Given the description of an element on the screen output the (x, y) to click on. 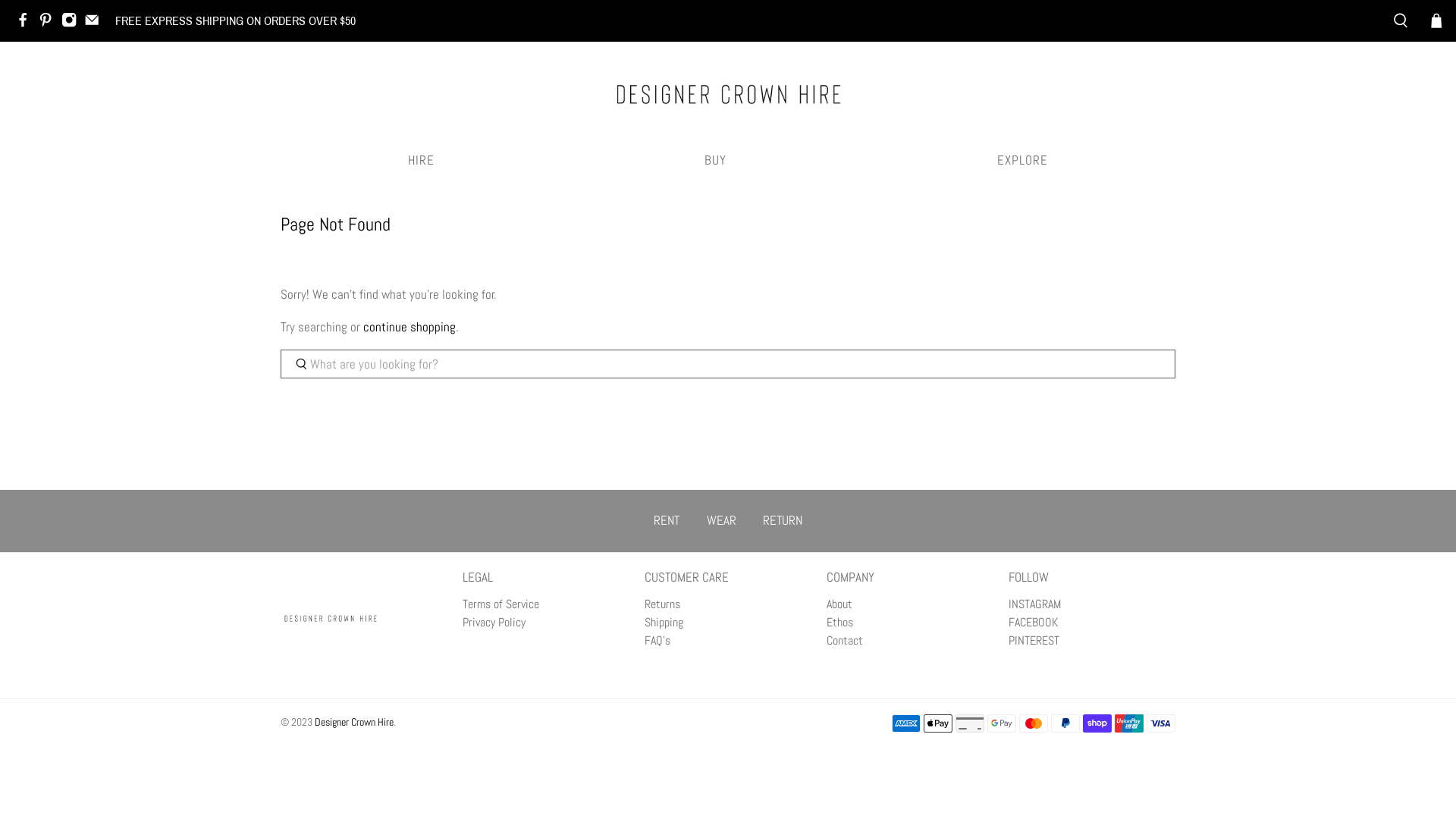
Email Designer Crown Hire Element type: hover (95, 22)
Designer Crown Hire on Pinterest Element type: hover (48, 22)
BUY Element type: text (716, 160)
EXPLORE Element type: text (1022, 160)
Designer Crown Hire Element type: hover (330, 625)
Designer Crown Hire on Instagram Element type: hover (72, 22)
Shipping Element type: text (663, 622)
Ethos Element type: text (839, 622)
Designer Crown Hire on Facebook Element type: hover (26, 22)
PINTEREST Element type: text (1033, 640)
FAQ's Element type: text (657, 640)
INSTAGRAM Element type: text (1034, 603)
Designer Crown Hire Element type: hover (727, 93)
HIRE Element type: text (421, 160)
Terms of Service Element type: text (500, 603)
About Element type: text (839, 603)
Privacy Policy Element type: text (493, 622)
FACEBOOK Element type: text (1032, 622)
Designer Crown Hire Element type: text (353, 721)
Contact Element type: text (844, 640)
Returns Element type: text (662, 603)
continue shopping Element type: text (409, 326)
